Given the description of an element on the screen output the (x, y) to click on. 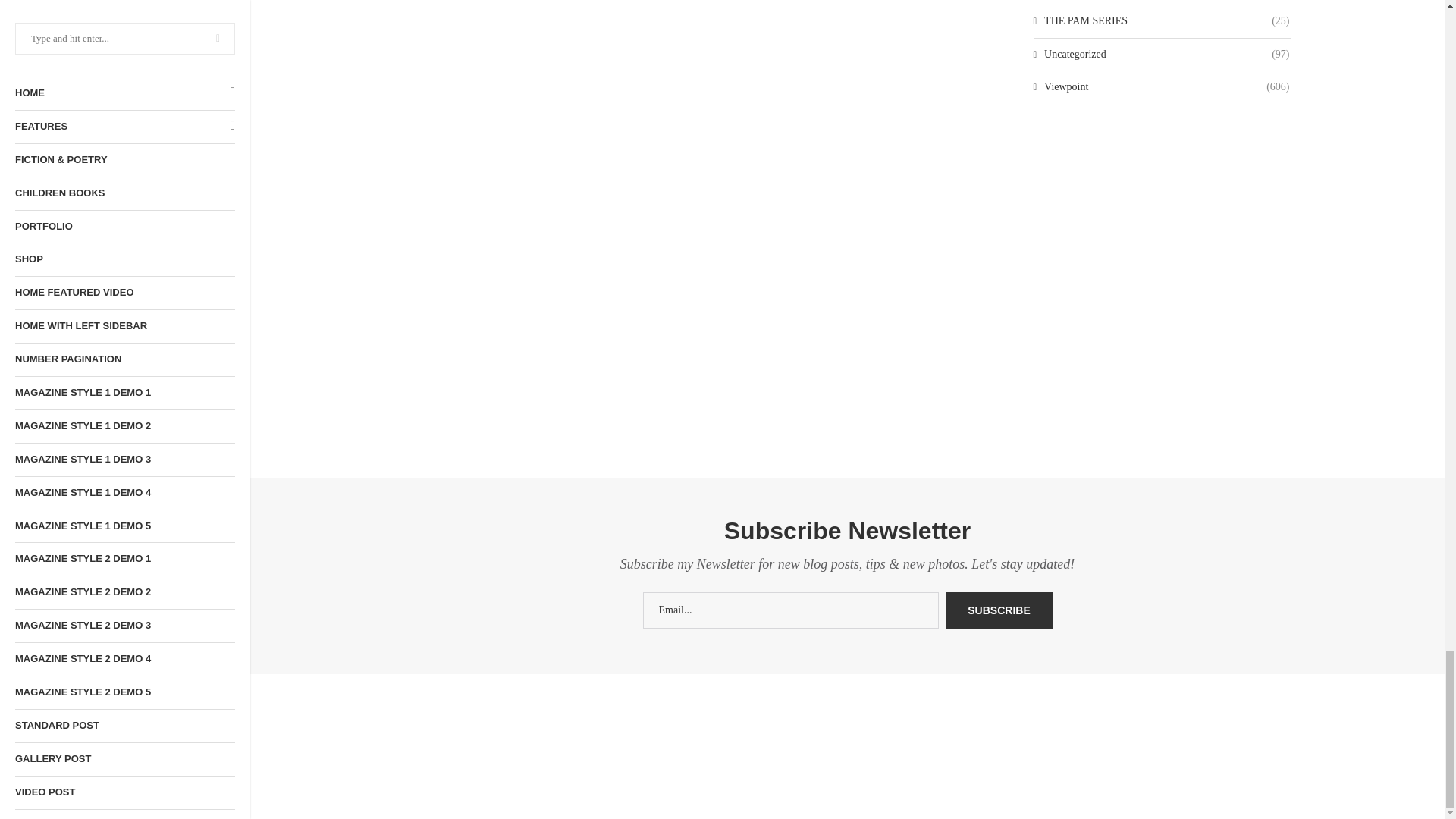
Subscribe (999, 610)
